Given the description of an element on the screen output the (x, y) to click on. 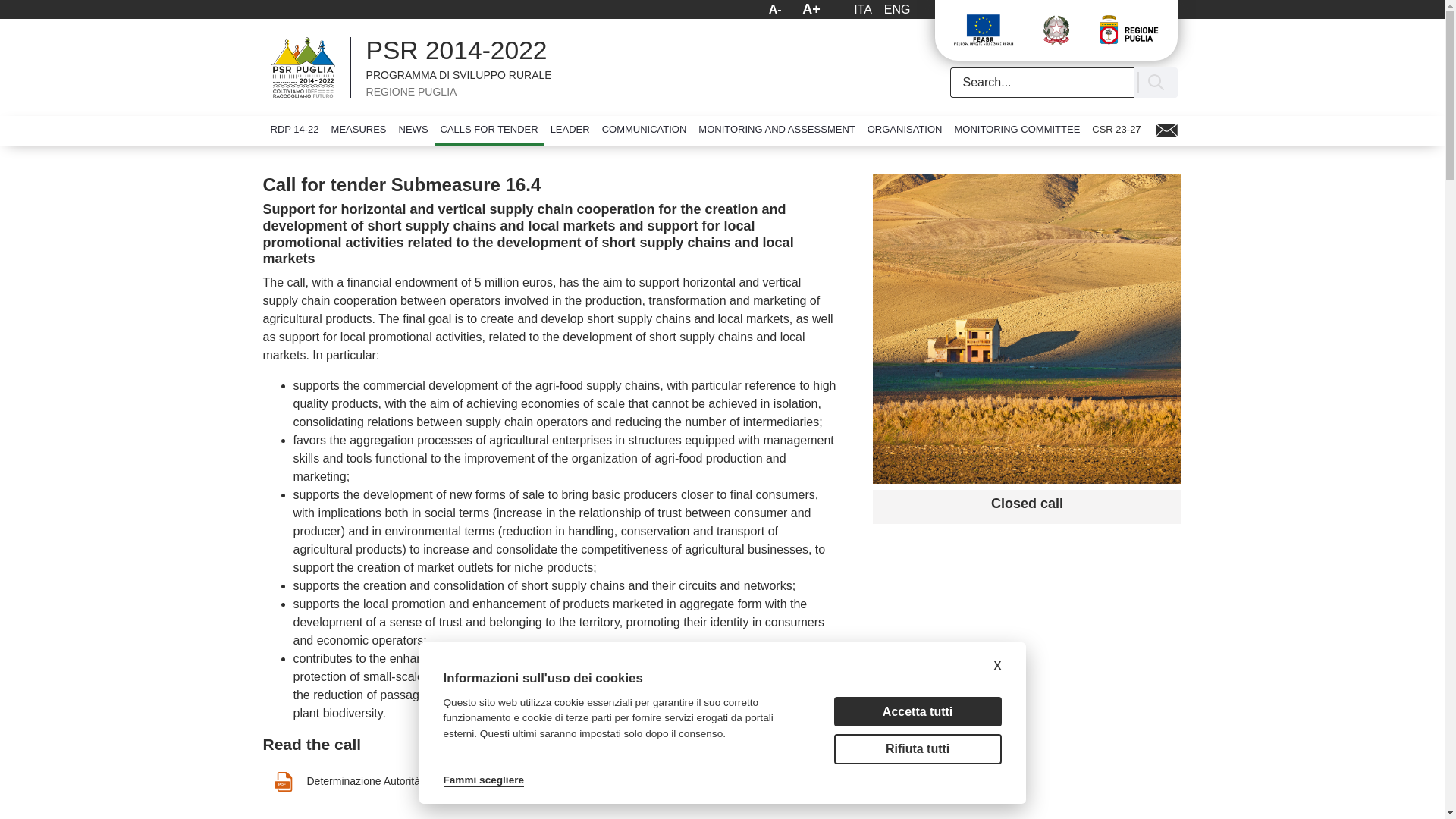
MEASURES (358, 129)
ITA (410, 66)
Go to  (862, 9)
RDP 14-22 (410, 66)
Search (293, 129)
A- (1040, 82)
